Given the description of an element on the screen output the (x, y) to click on. 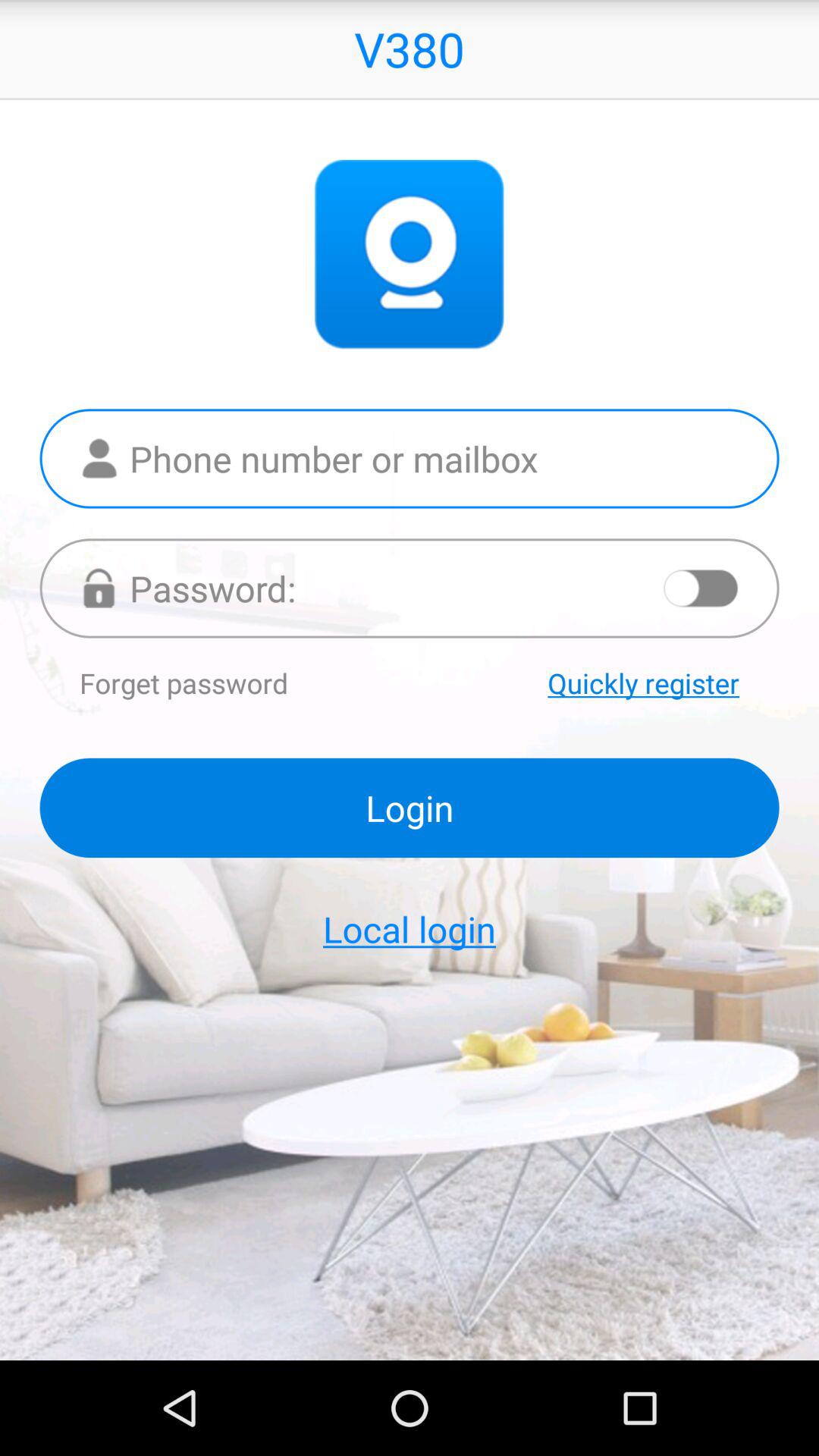
login page (409, 588)
